Given the description of an element on the screen output the (x, y) to click on. 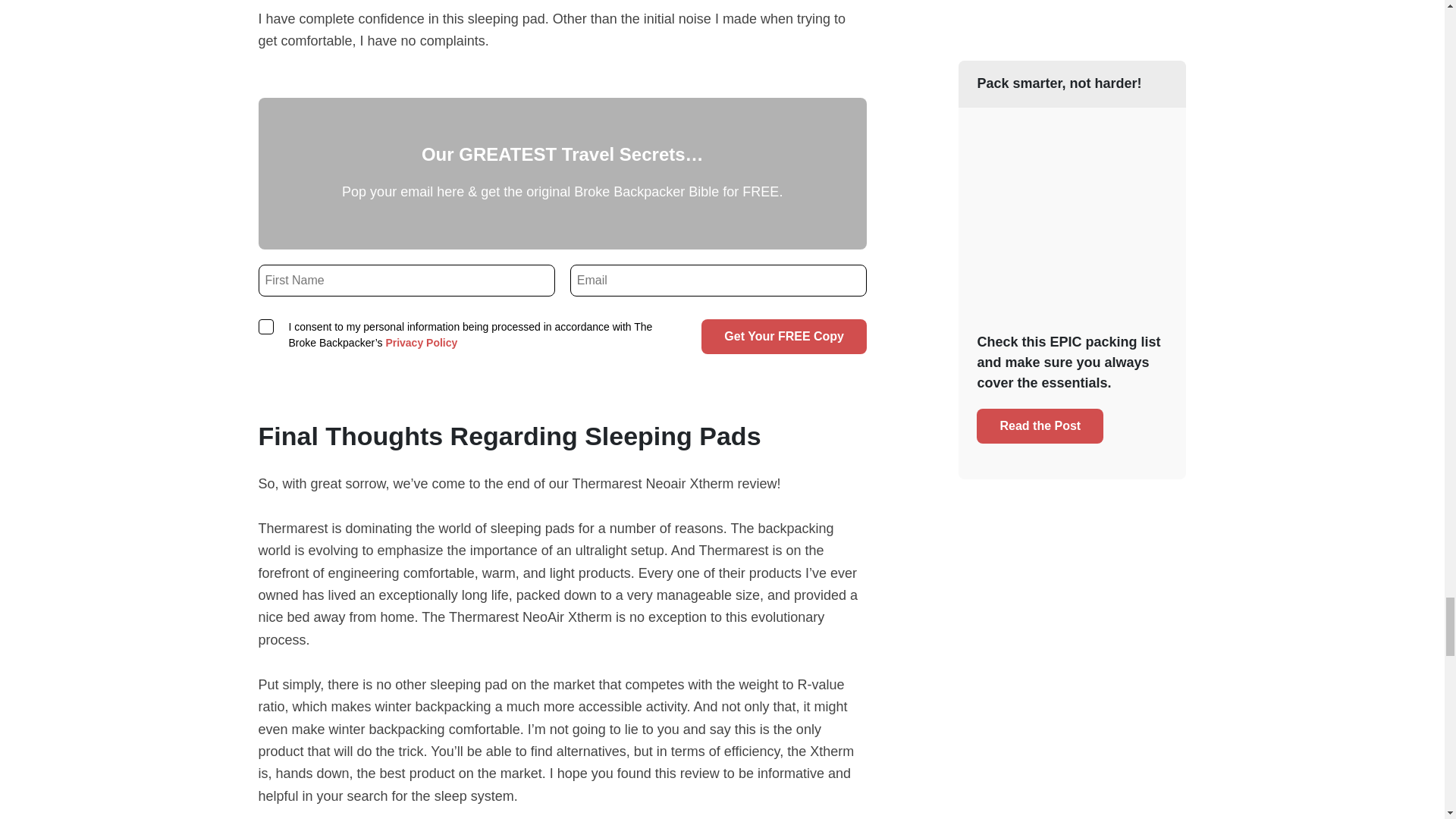
1 (265, 326)
